Given the description of an element on the screen output the (x, y) to click on. 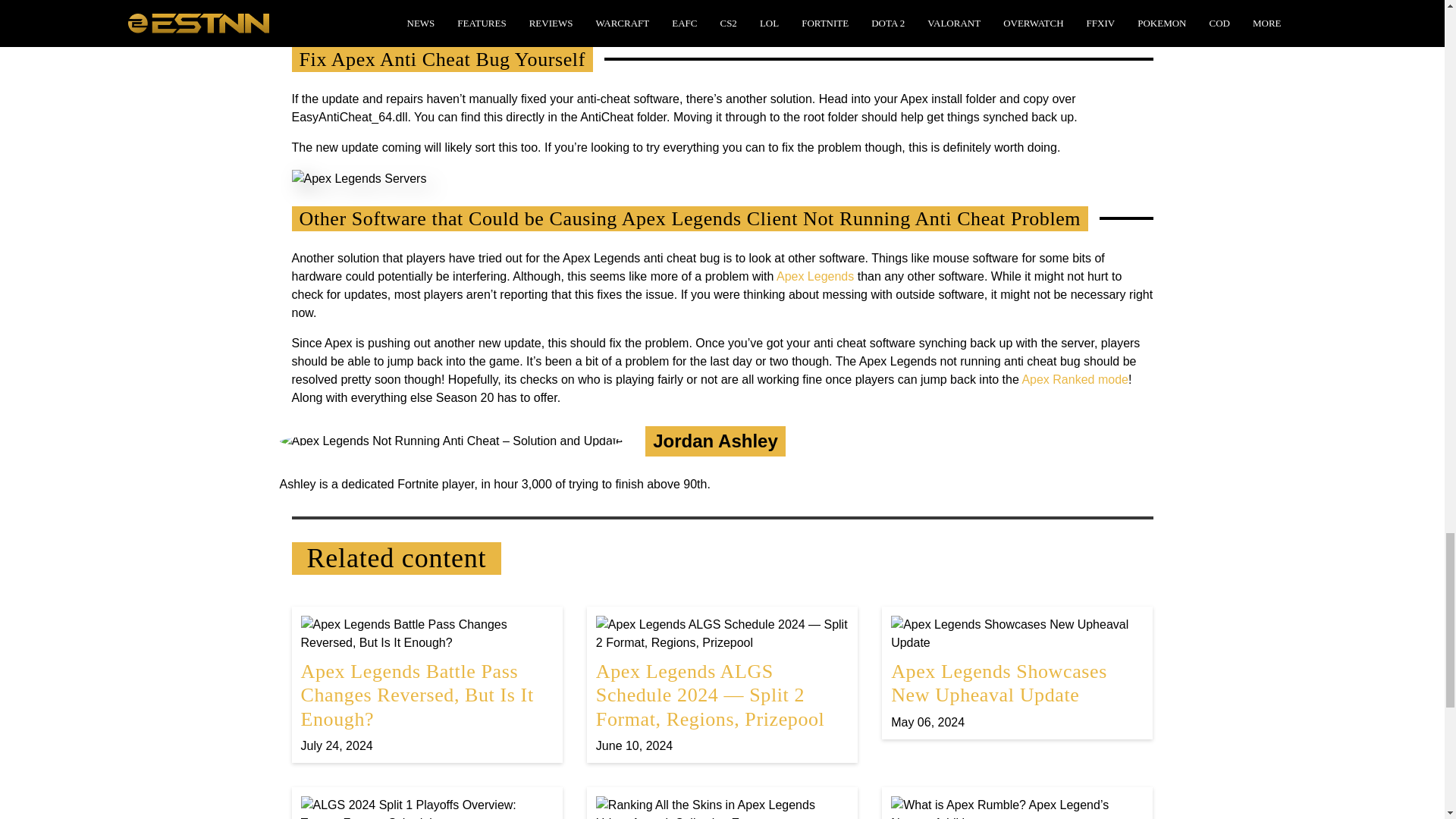
Apex Ranked mode (1075, 379)
ALGS 2024 Split 1 Playoffs Overview: Teams, Format, Schedule (426, 807)
Apex Legends Showcases New Upheaval Update (1016, 672)
Apex Legends (814, 276)
Apex Legends Battle Pass Changes Reversed, But Is It Enough? (426, 684)
Jordan Ashley (714, 440)
